Given the description of an element on the screen output the (x, y) to click on. 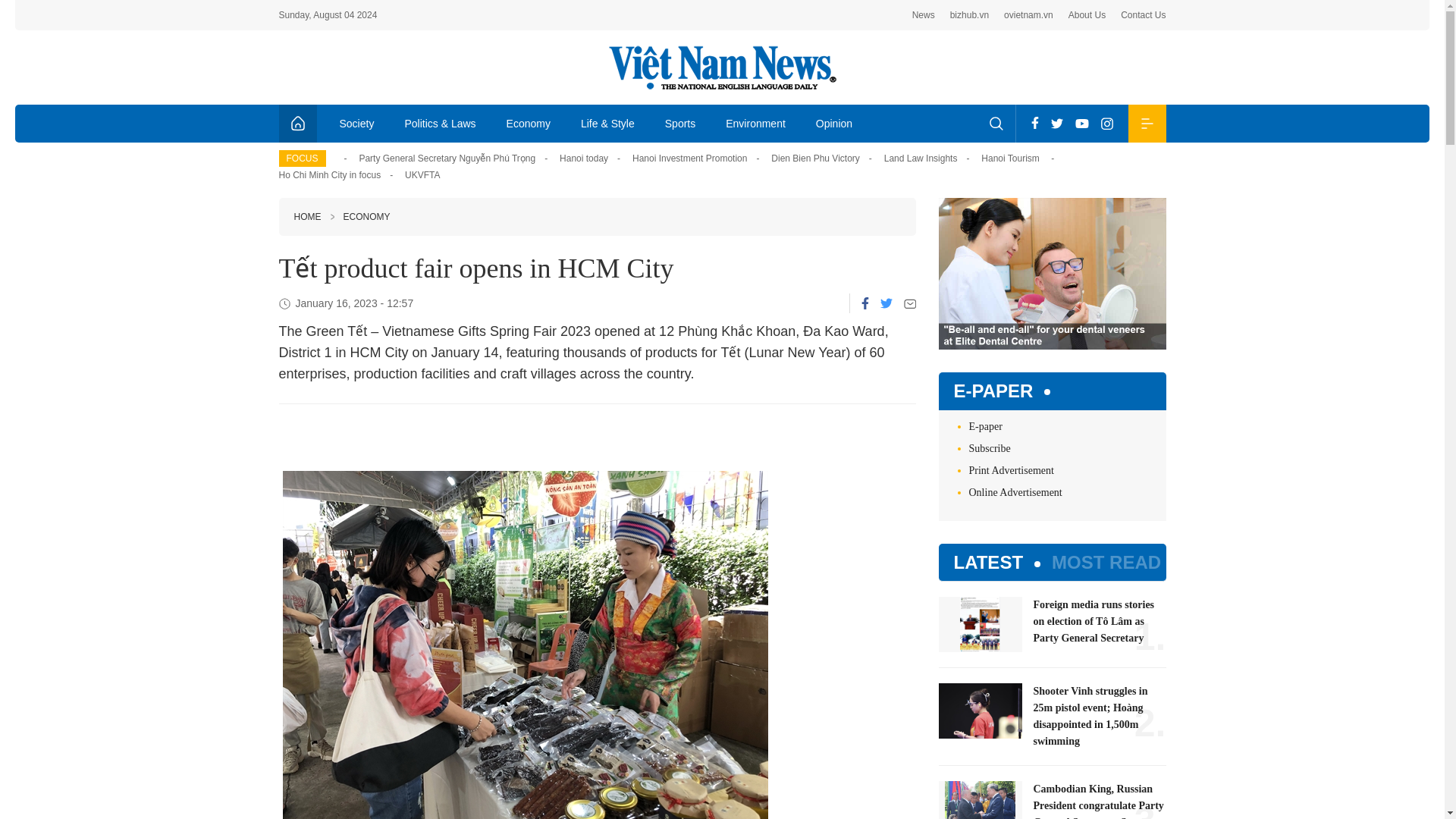
Twitter (885, 303)
Facebook (1035, 123)
Twitter (1056, 122)
Email (909, 303)
Youtube (1081, 122)
ovietnam.vn (1028, 15)
Economy (529, 123)
About Us (1086, 15)
Instagram (1106, 123)
Sports (679, 123)
News (923, 15)
bizhub.vn (969, 15)
Contact Us (1143, 15)
Opinion (833, 123)
Society (357, 123)
